Given the description of an element on the screen output the (x, y) to click on. 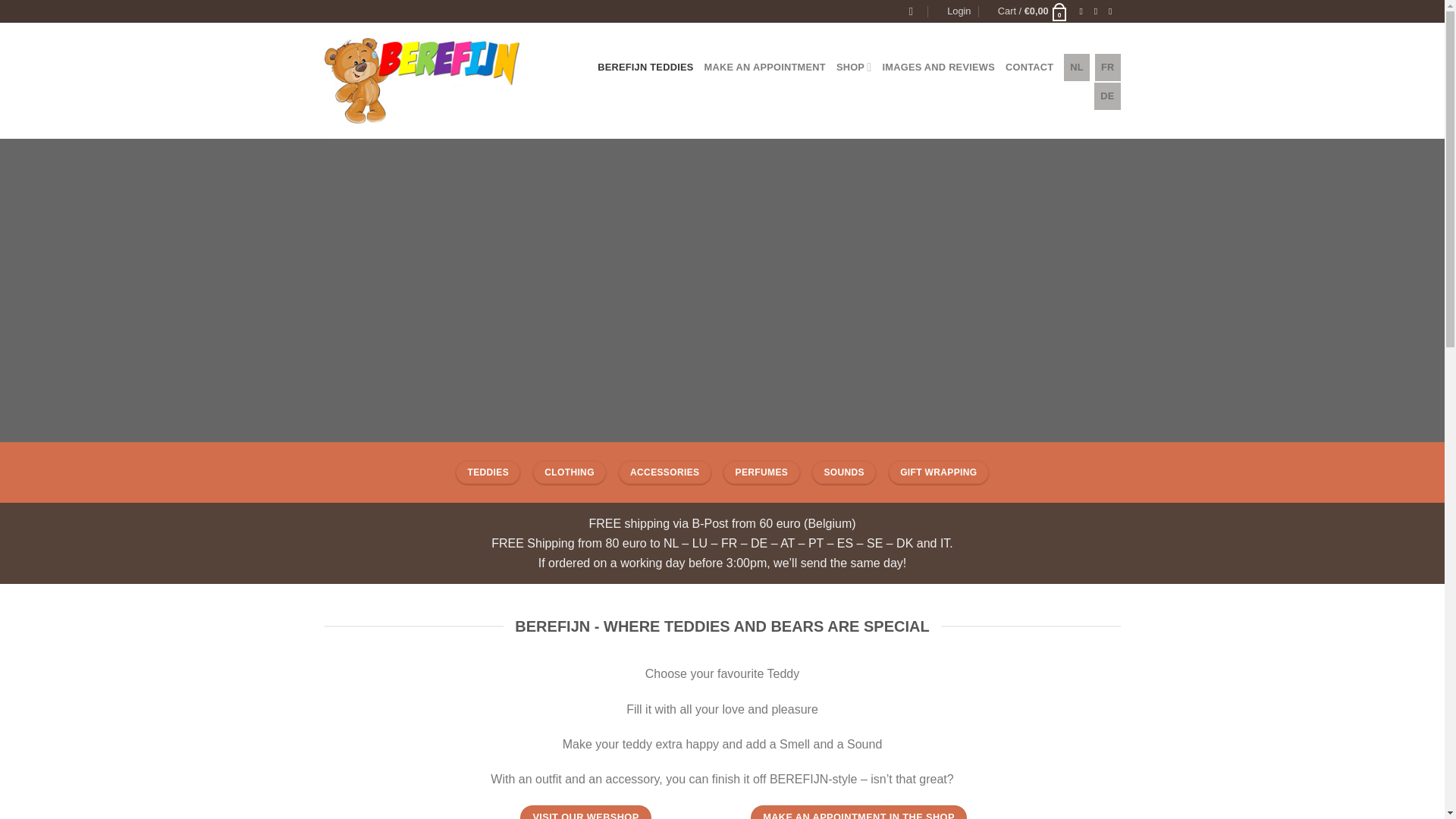
BEREFIJN TEDDIES (644, 67)
berefijn.be (439, 80)
DE (1106, 95)
Follow on Facebook (1084, 10)
FR (1107, 67)
Login (959, 11)
IMAGES AND REVIEWS (938, 67)
NL (1076, 67)
MAKE AN APPOINTMENT IN THE SHOP (858, 812)
Send us an email (1113, 10)
SHOP (853, 66)
SOUNDS (844, 472)
PERFUMES (761, 472)
CLOTHING (568, 472)
